Given the description of an element on the screen output the (x, y) to click on. 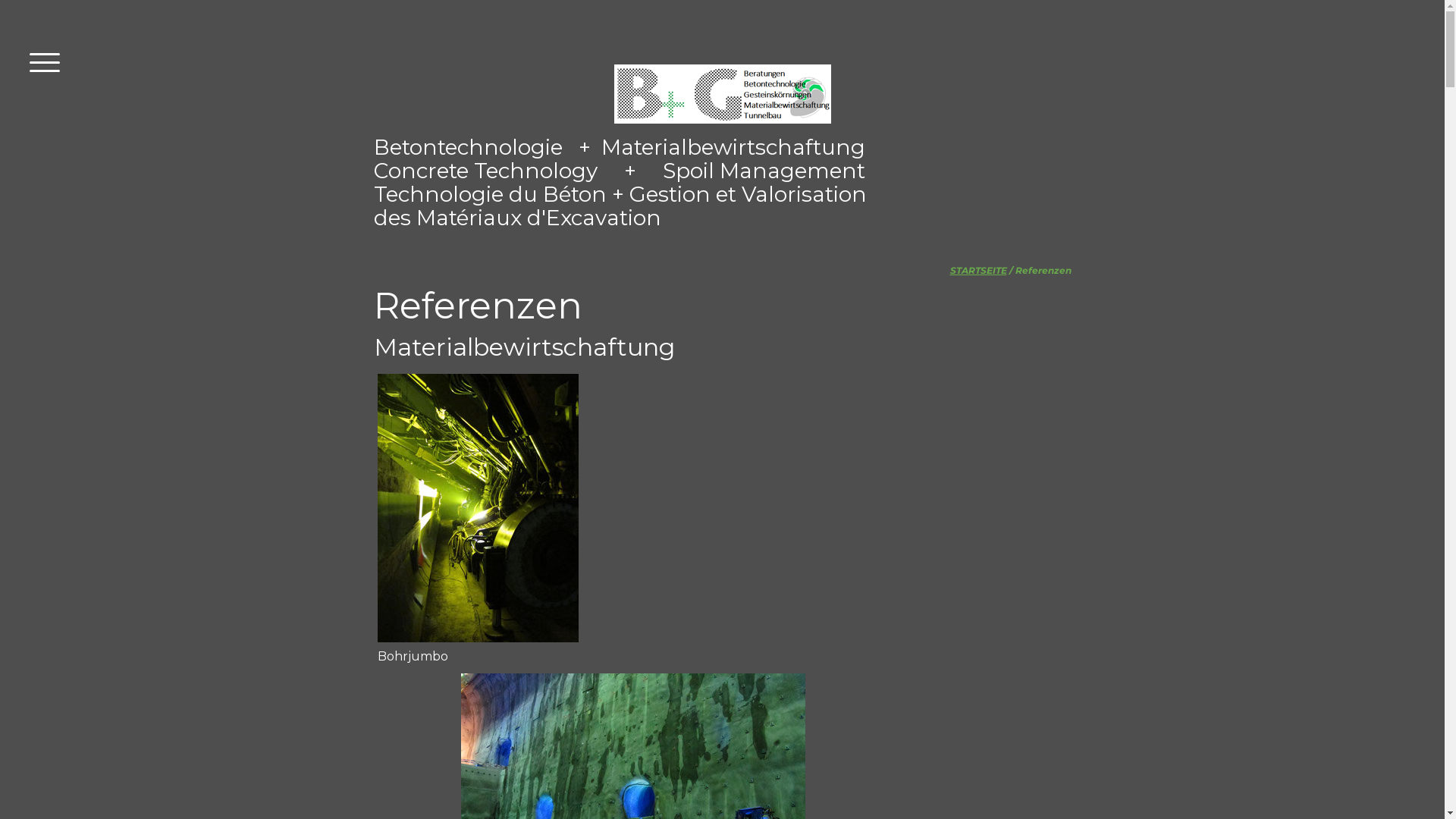
STARTSEITE Element type: text (977, 270)
